Given the description of an element on the screen output the (x, y) to click on. 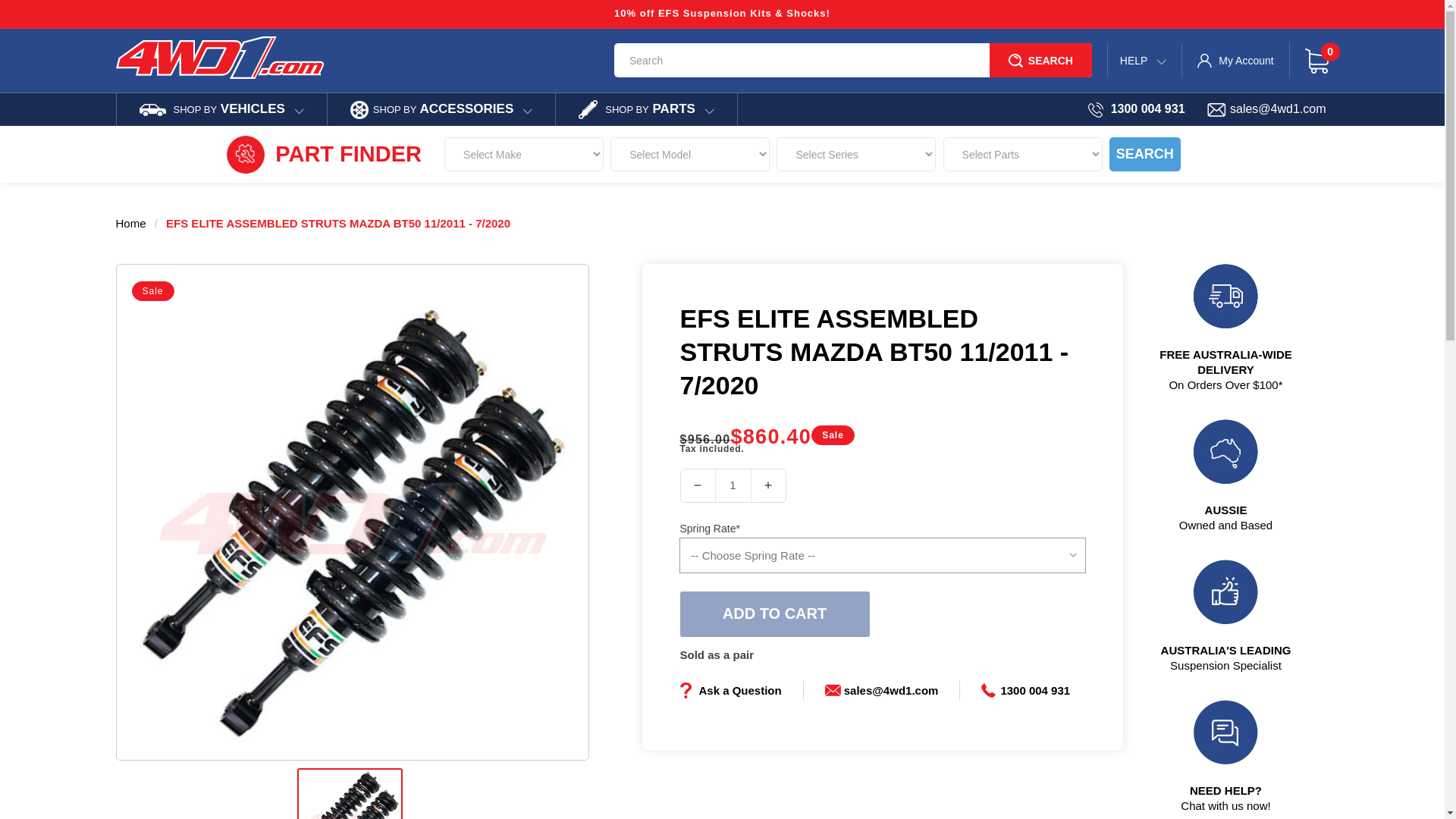
1300 004 931 (1025, 690)
1300 004 931 (1136, 109)
1 (732, 485)
Home (130, 223)
Skip to content (45, 16)
